Given the description of an element on the screen output the (x, y) to click on. 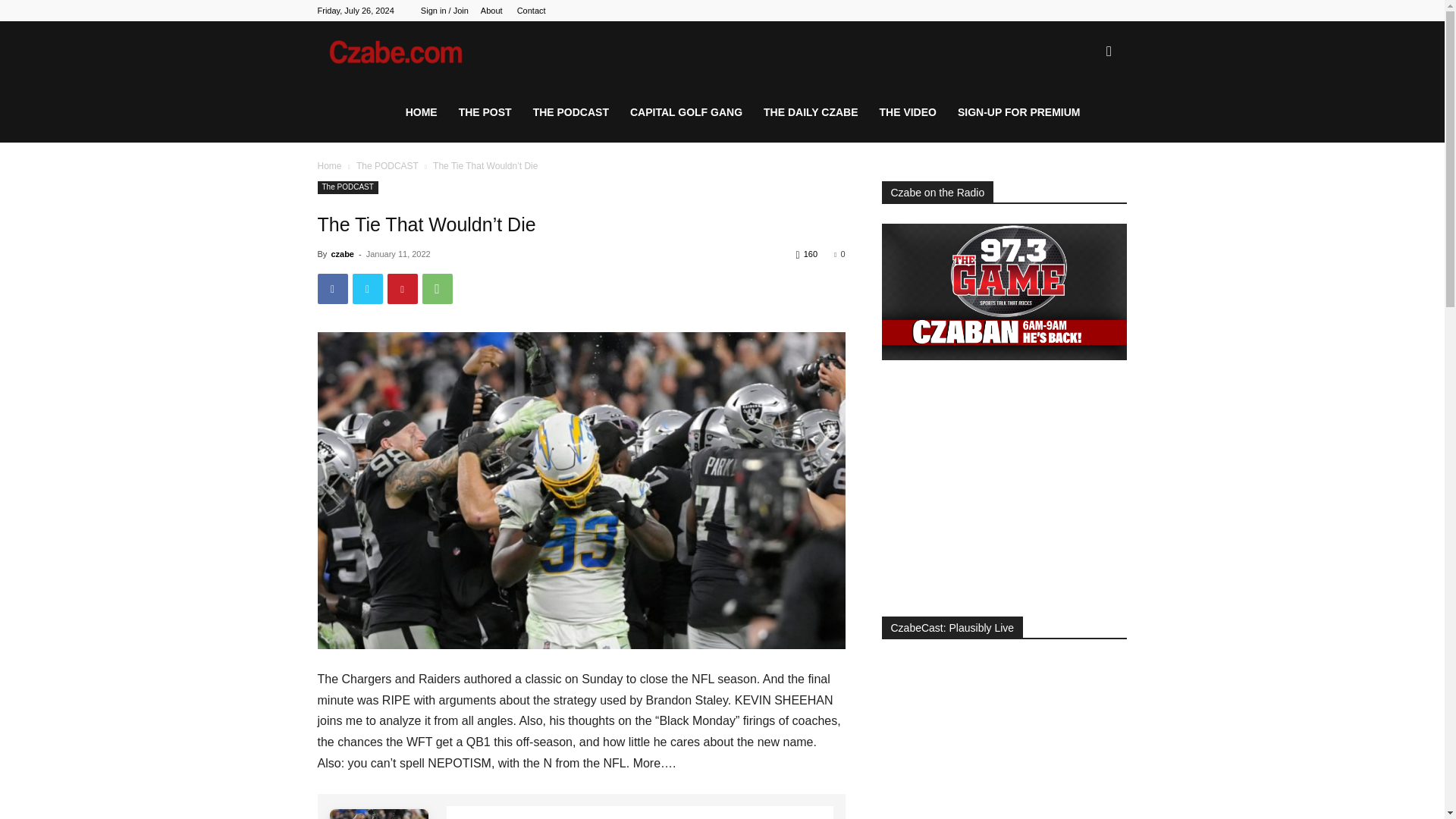
Home (328, 165)
Facebook (332, 288)
About (491, 10)
czabe (341, 253)
Twitter (366, 288)
THE PODCAST (571, 111)
Pinterest (401, 288)
The PODCAST (387, 165)
THE VIDEO (908, 111)
WhatsApp (436, 288)
Search (1085, 124)
THE DAILY CZABE (809, 111)
CAPITAL GOLF GANG (686, 111)
Contact (531, 10)
